Given the description of an element on the screen output the (x, y) to click on. 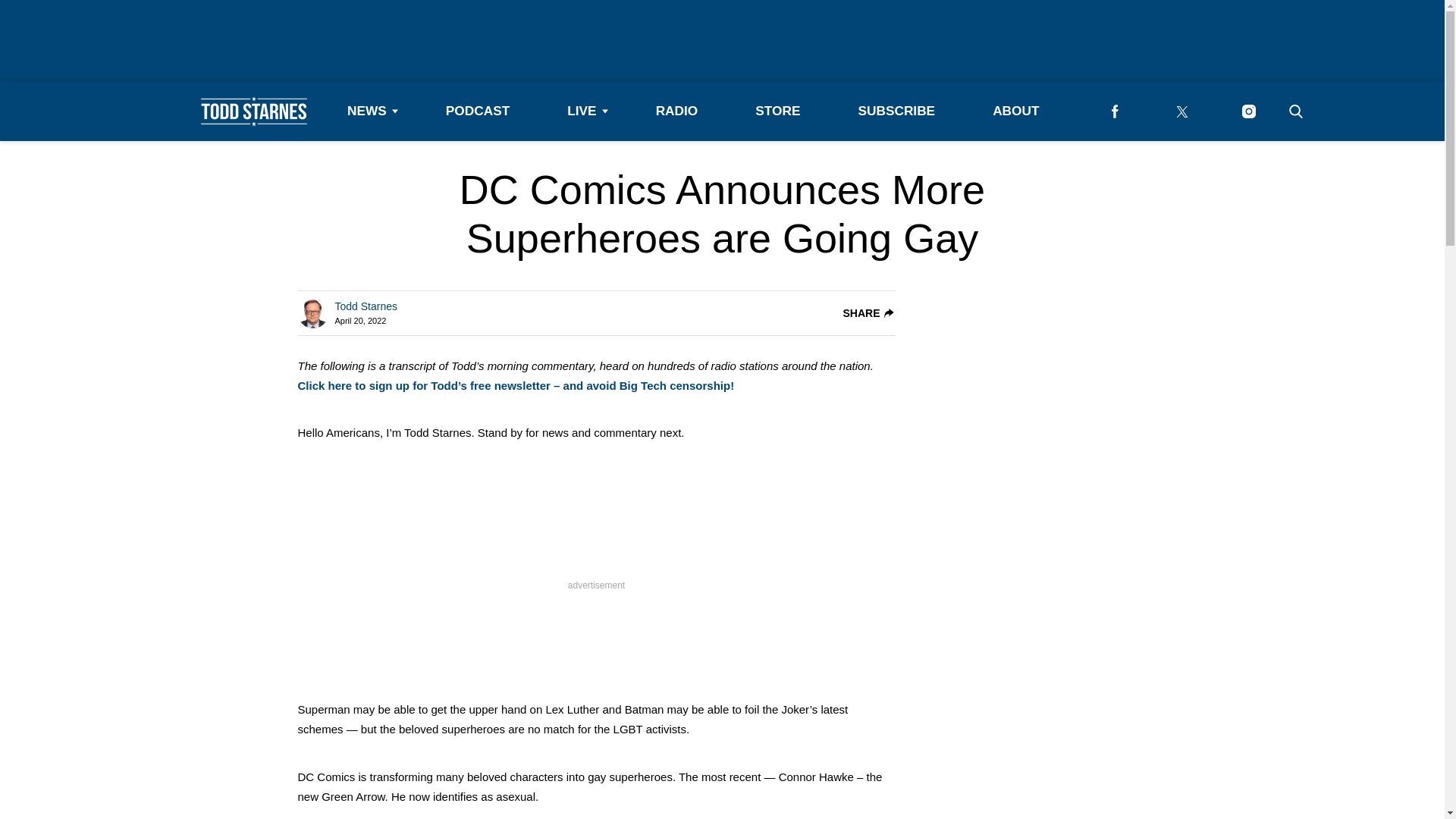
Posts by Todd Starnes (365, 306)
NEWS (367, 110)
Todd Starnes (365, 306)
ABOUT (1015, 110)
PODCAST (477, 110)
LIVE (582, 110)
RADIO (676, 110)
STORE (777, 110)
SUBSCRIBE (896, 110)
